Given the description of an element on the screen output the (x, y) to click on. 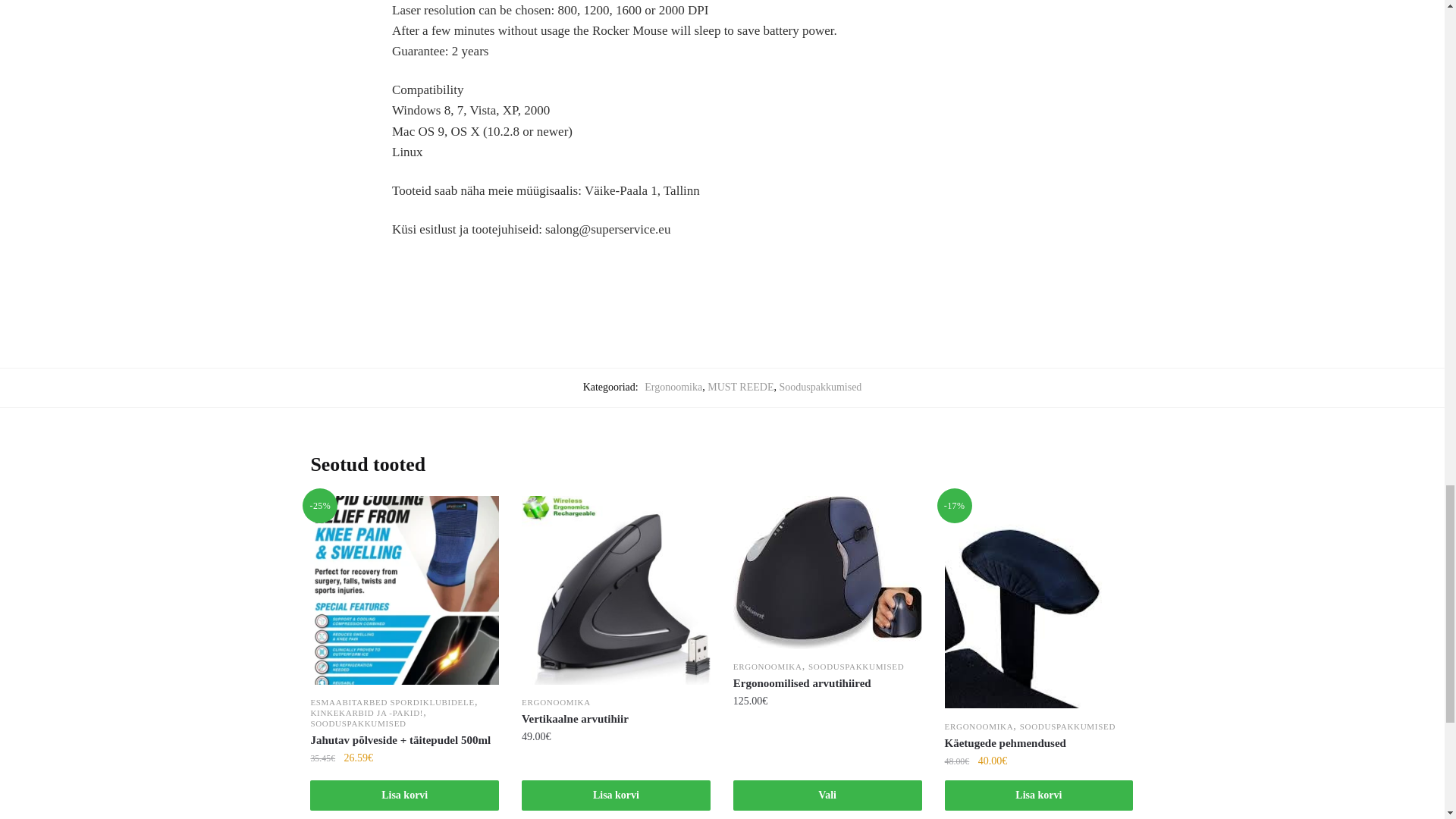
Ergonoomika (673, 387)
Sooduspakkumised (819, 387)
Ergonoomilised arvutihiired (827, 572)
Vertikaalne arvutihiir (615, 718)
Ergonoomilised arvutihiired (827, 683)
MUST REEDE (740, 387)
Vertikaalne arvutihiir (615, 590)
